Given the description of an element on the screen output the (x, y) to click on. 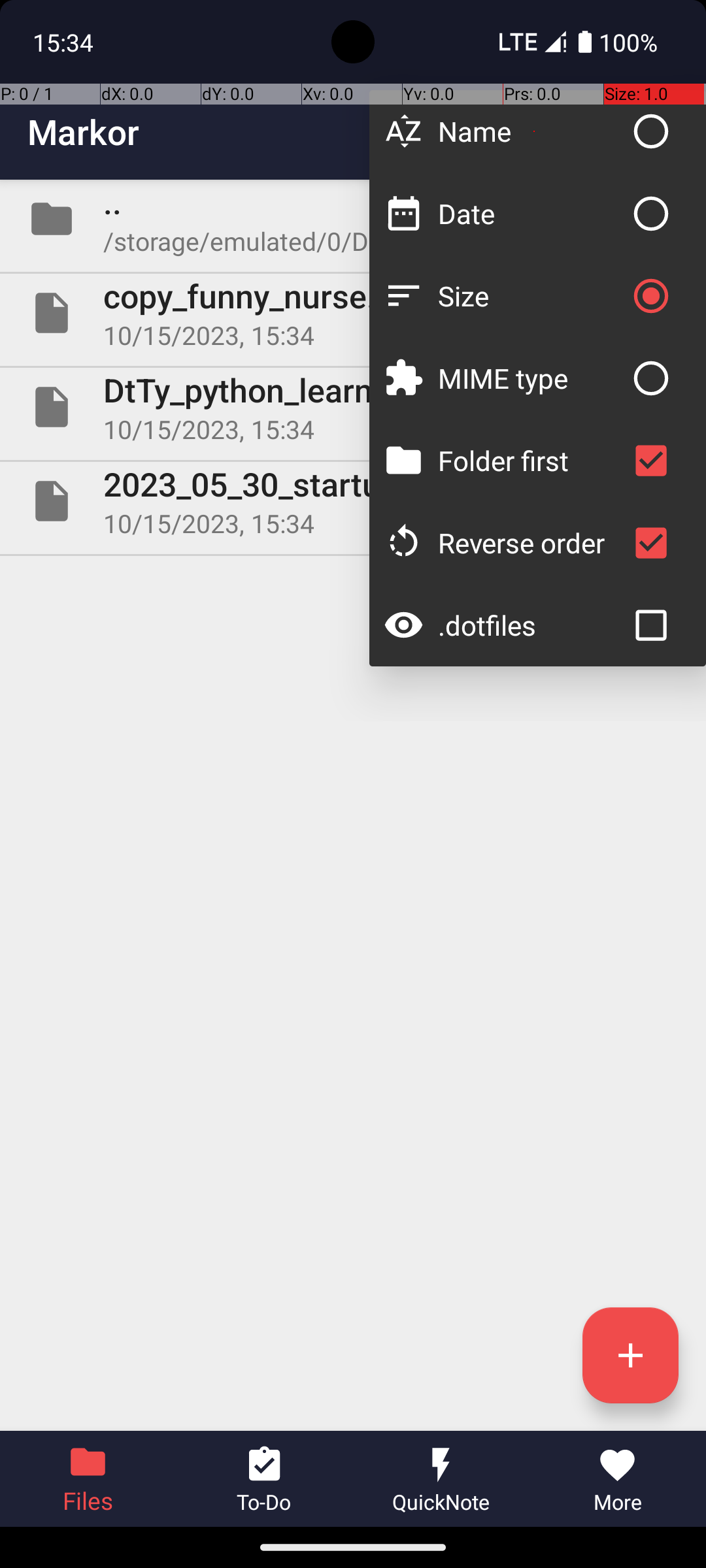
Size Element type: android.widget.TextView (530, 295)
MIME type Element type: android.widget.TextView (530, 377)
Folder first Element type: android.widget.TextView (530, 459)
Reverse order Element type: android.widget.TextView (530, 542)
.dotfiles Element type: android.widget.TextView (530, 624)
